Given the description of an element on the screen output the (x, y) to click on. 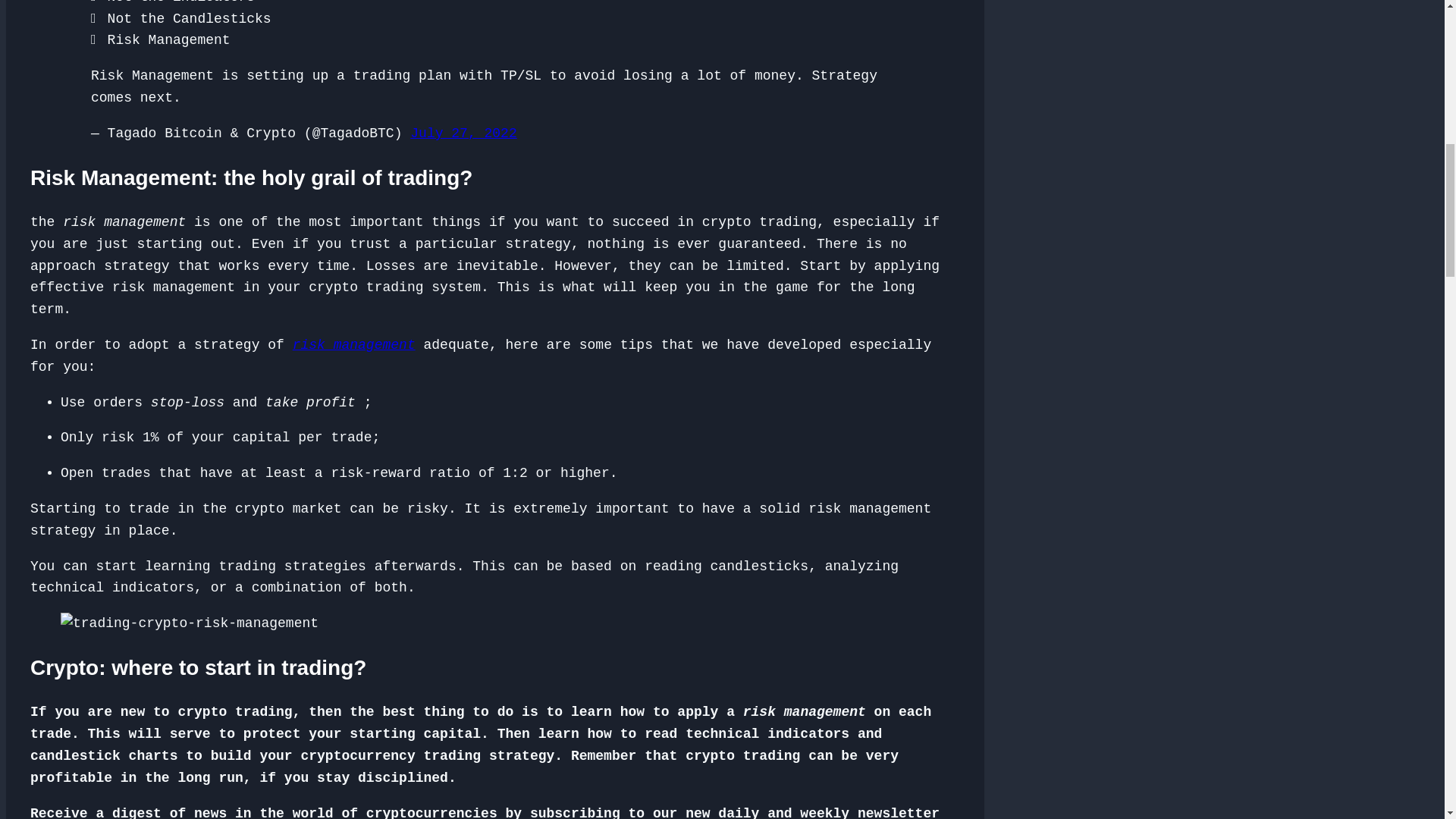
July 27, 2022 (463, 133)
risk management (353, 344)
